Given the description of an element on the screen output the (x, y) to click on. 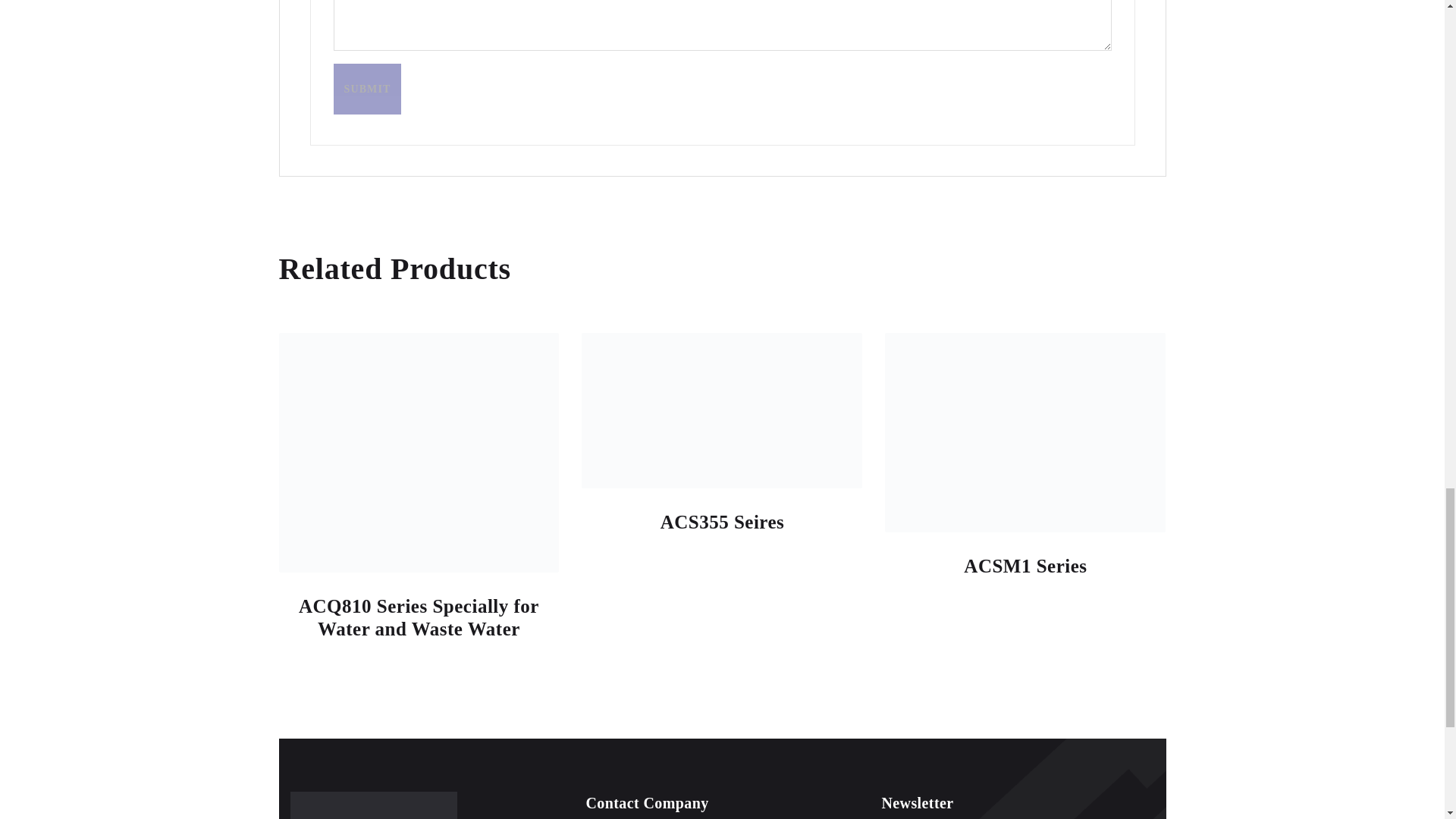
ACQ810 Series Specially for Water and Waste Water (418, 617)
Submit (367, 88)
Submit (367, 88)
